Given the description of an element on the screen output the (x, y) to click on. 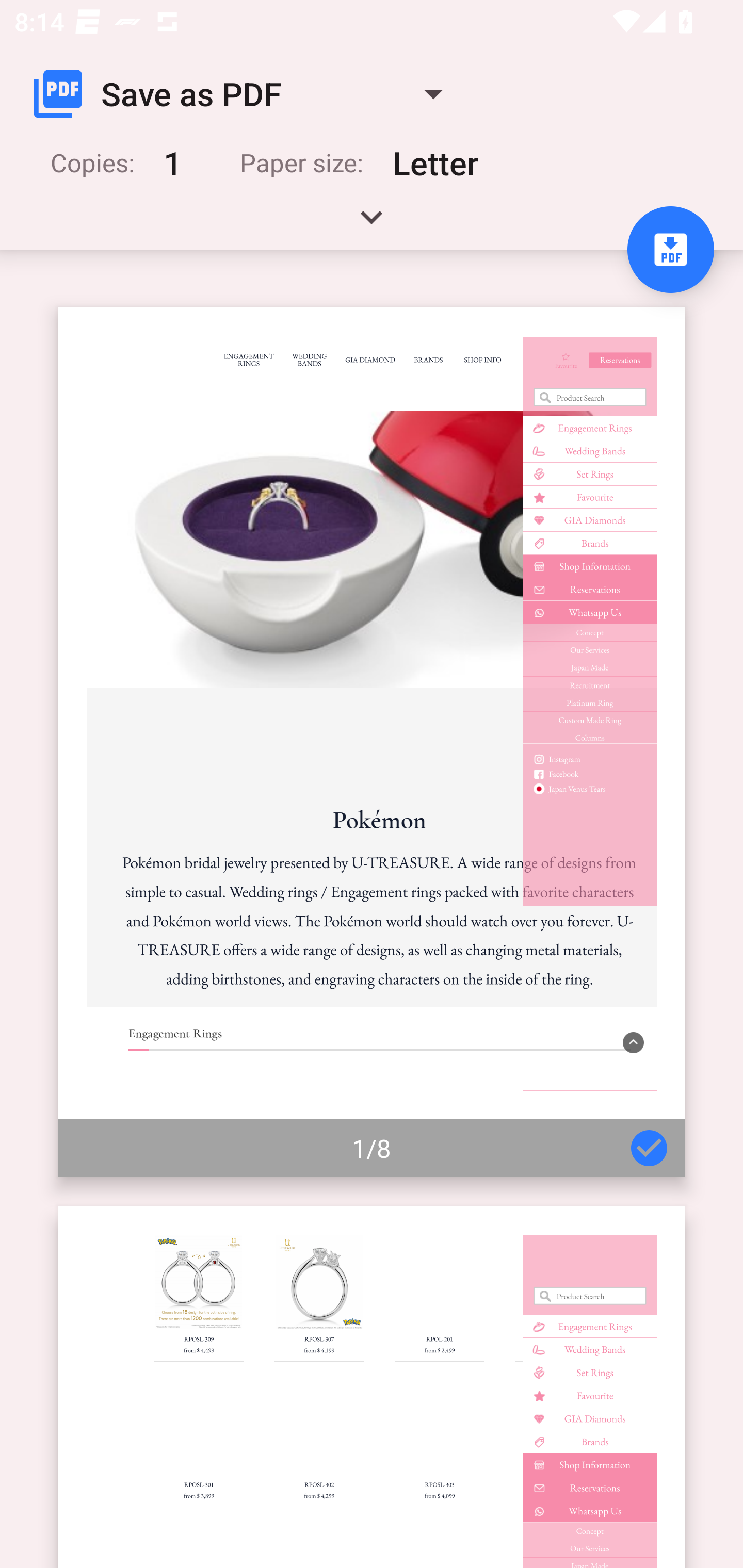
Save as PDF (245, 93)
Expand handle (371, 224)
Save to PDF (670, 249)
Page 1 of 8 1/8 (371, 742)
Page 2 of 8 (371, 1386)
